Given the description of an element on the screen output the (x, y) to click on. 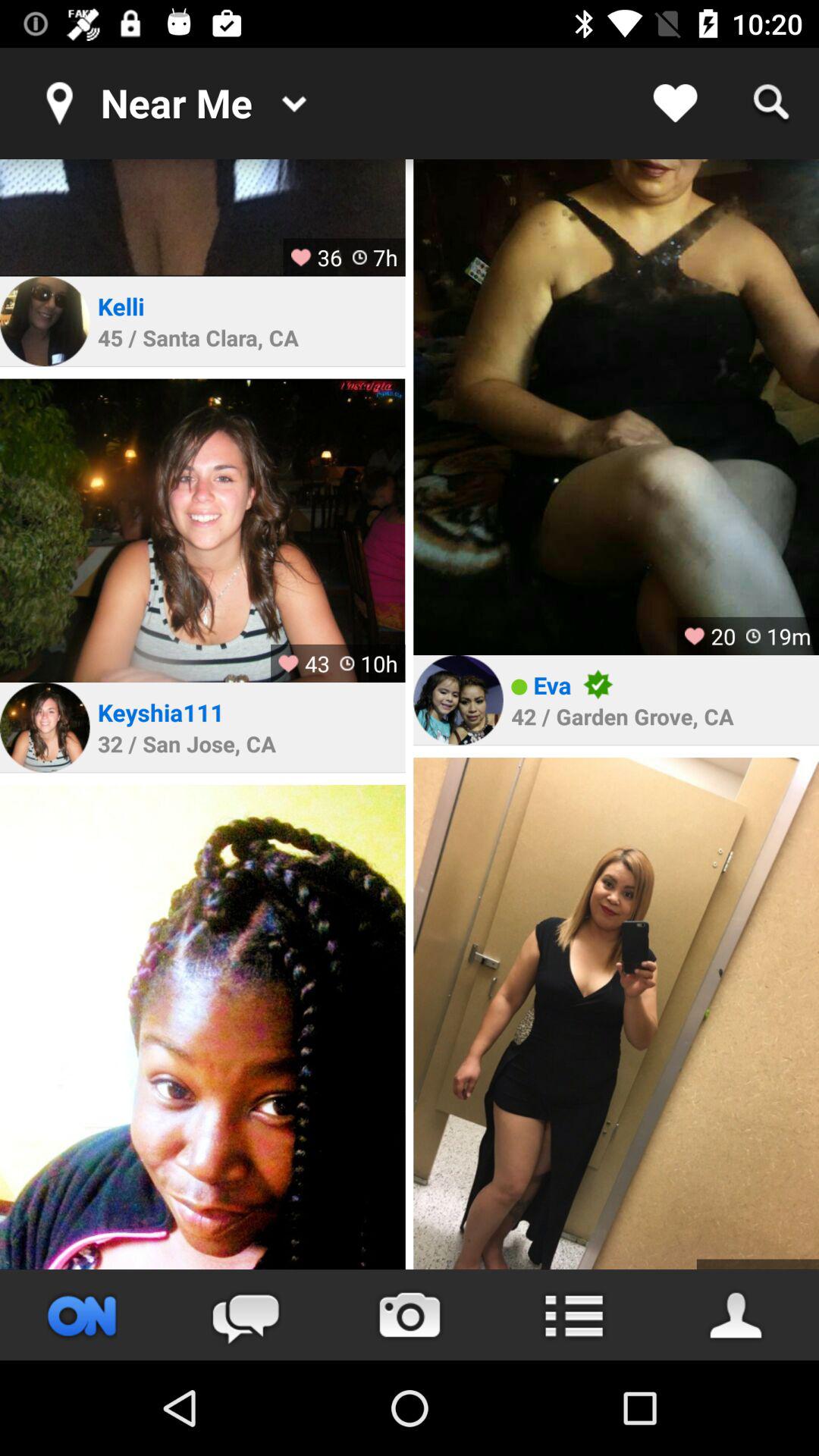
menu option (573, 1315)
